Given the description of an element on the screen output the (x, y) to click on. 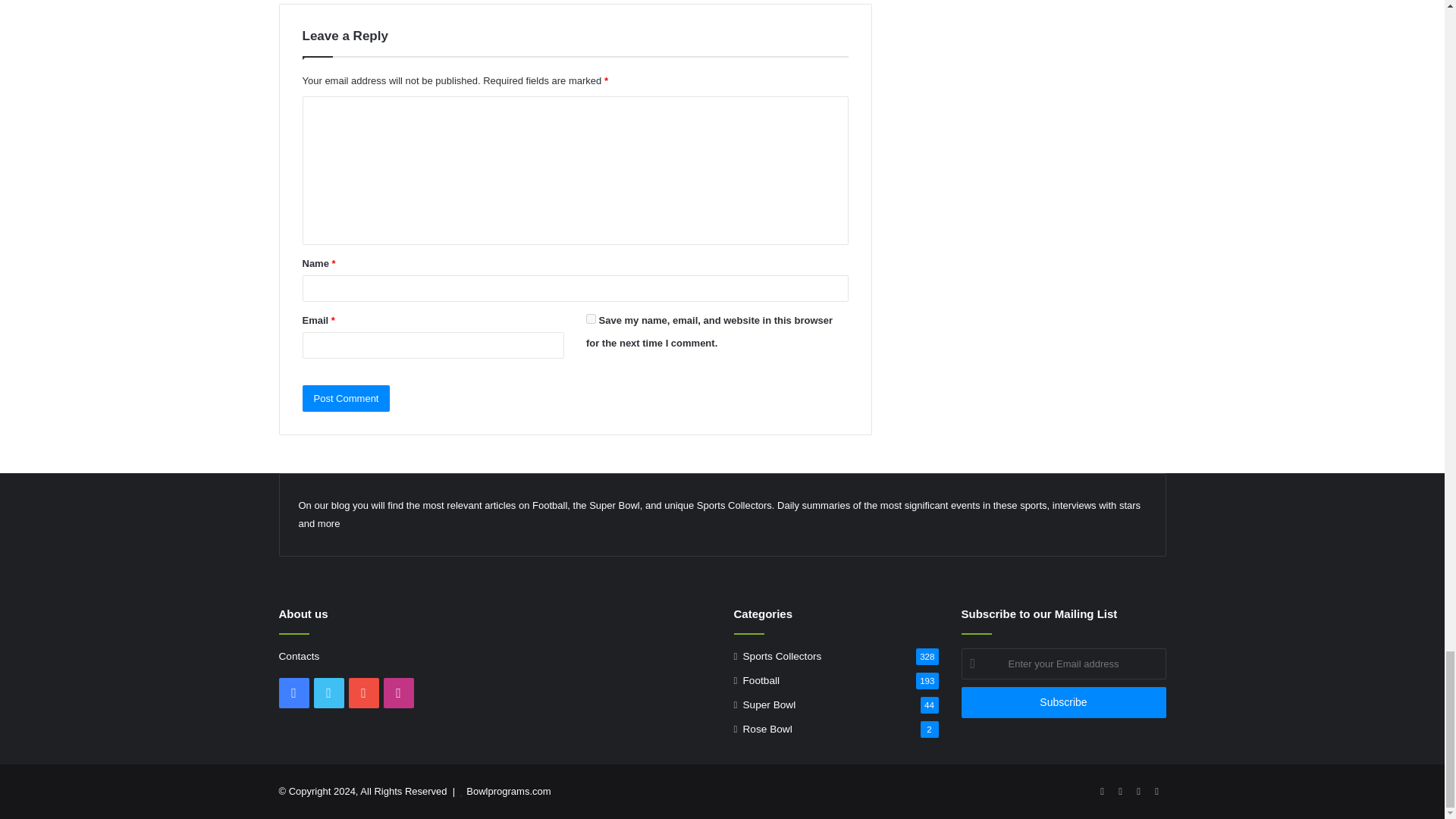
Subscribe (1063, 702)
Post Comment (345, 397)
yes (590, 318)
